Given the description of an element on the screen output the (x, y) to click on. 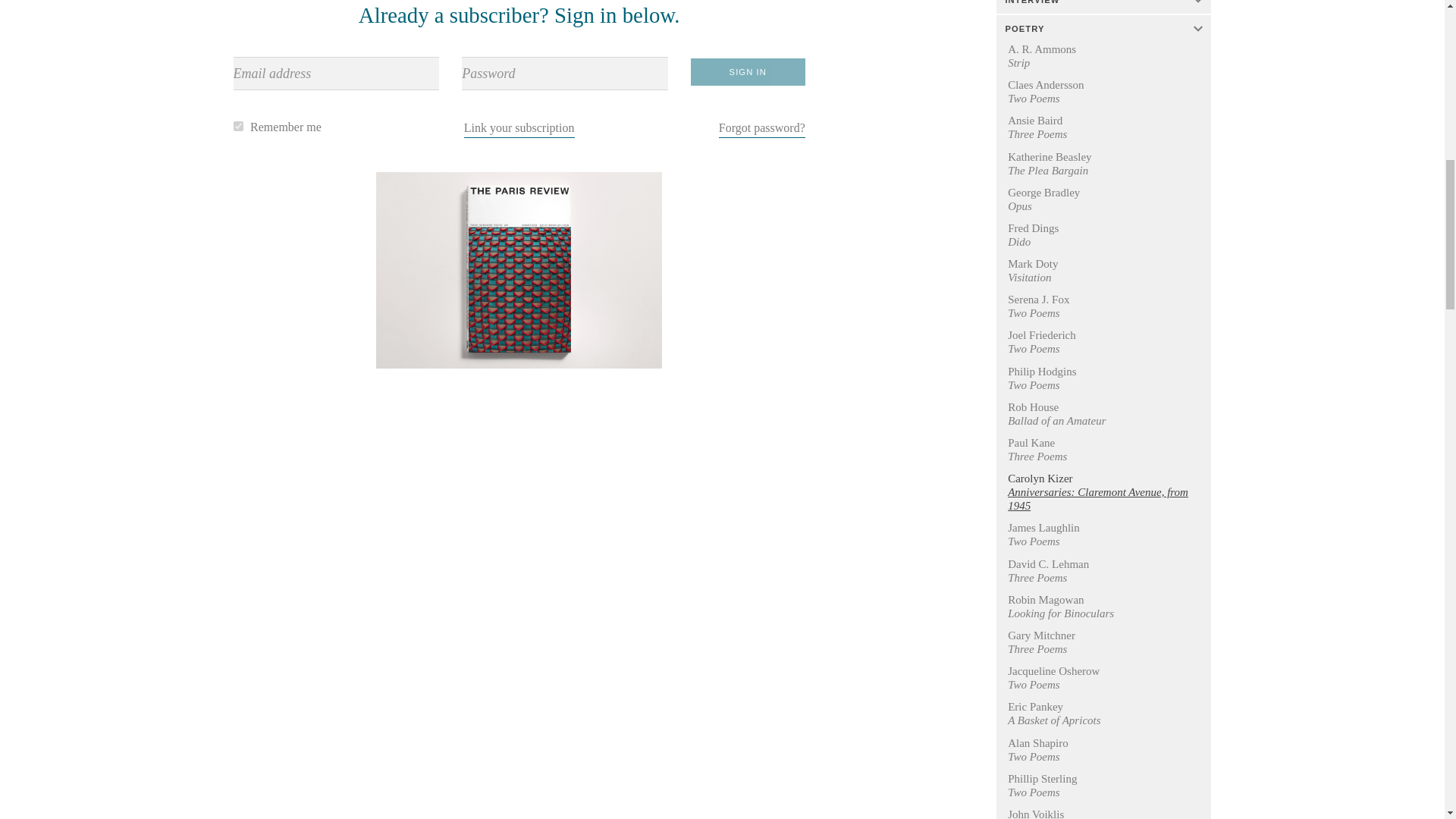
Sign In (747, 71)
remember (237, 126)
